Given the description of an element on the screen output the (x, y) to click on. 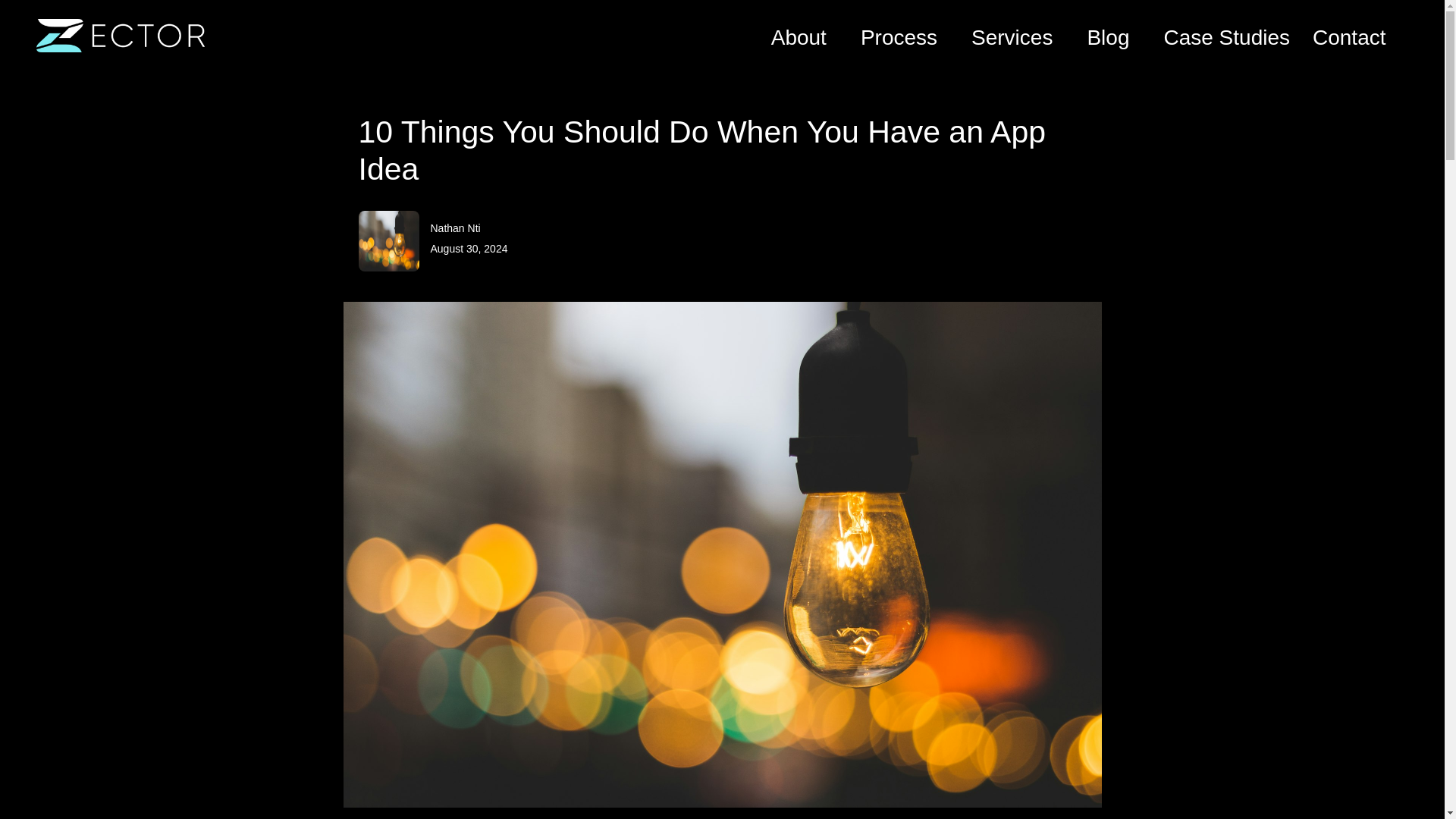
Services (1017, 38)
Case Studies (1226, 38)
Contact (1349, 38)
Process (904, 38)
